Given the description of an element on the screen output the (x, y) to click on. 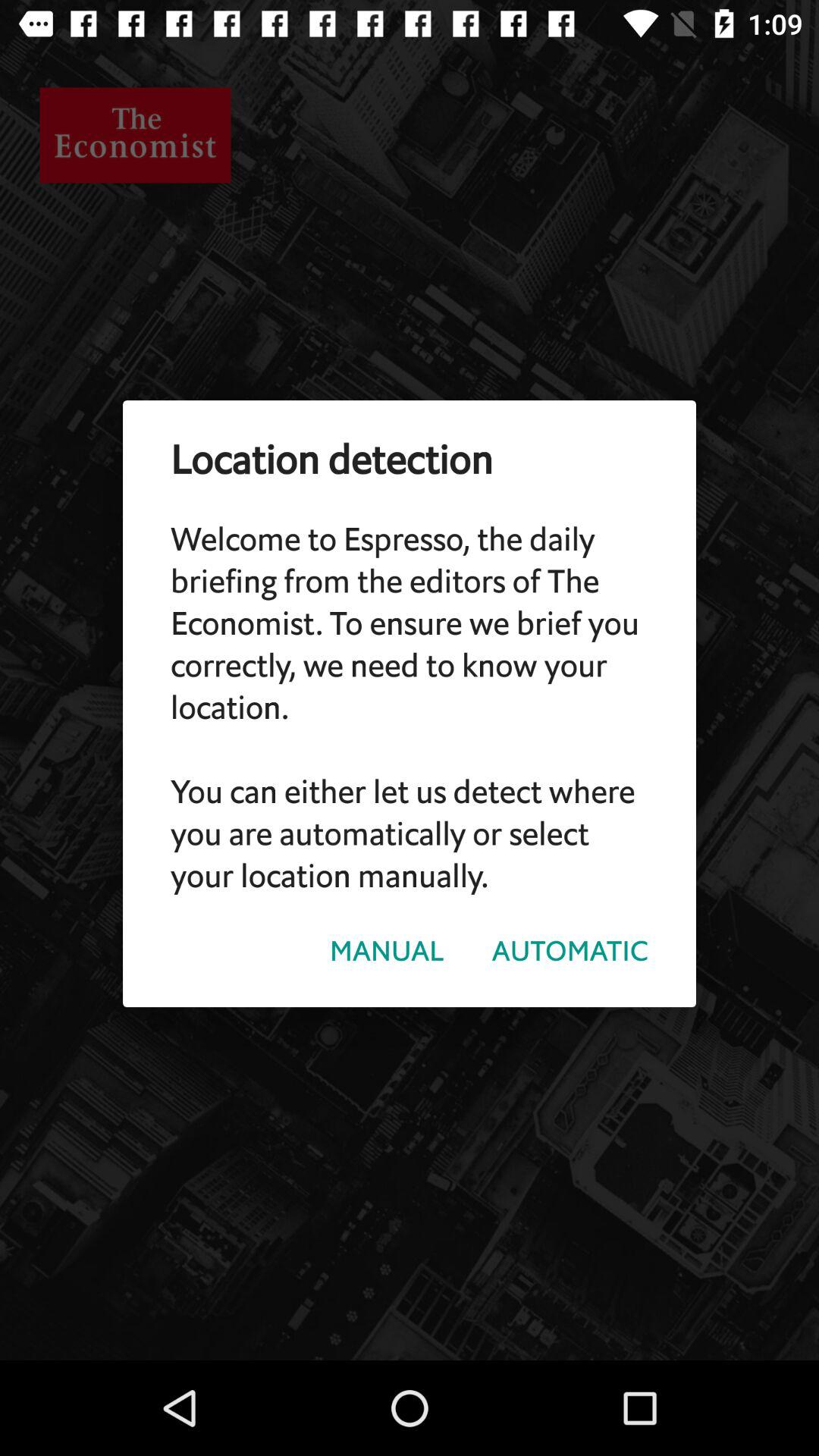
turn on the icon on the right (570, 951)
